Given the description of an element on the screen output the (x, y) to click on. 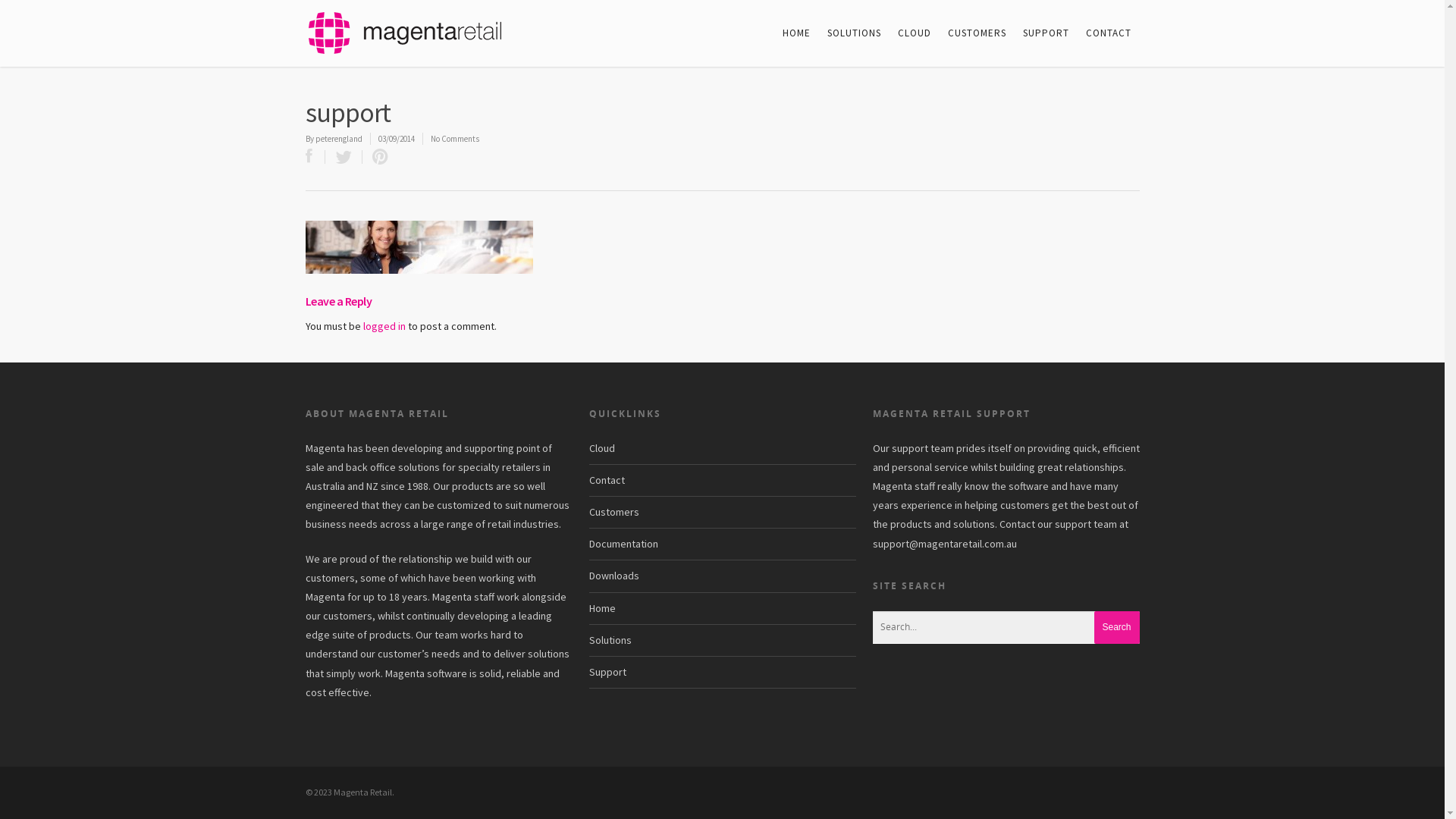
No Comments Element type: text (454, 138)
Documentation Element type: text (721, 544)
SUPPORT Element type: text (1045, 34)
CONTACT Element type: text (1108, 34)
Cloud Element type: text (721, 451)
CLOUD Element type: text (914, 34)
Search Element type: text (1116, 627)
Tweet this Element type: hover (342, 156)
Downloads Element type: text (721, 576)
support@magentaretail.com.au Element type: text (944, 543)
SOLUTIONS Element type: text (853, 34)
Share this Element type: hover (314, 156)
Pin this Element type: hover (376, 156)
HOME Element type: text (796, 34)
logged in Element type: text (383, 325)
Contact Element type: text (721, 480)
Customers Element type: text (721, 512)
CUSTOMERS Element type: text (976, 34)
peterengland Element type: text (338, 138)
Solutions Element type: text (721, 640)
Support Element type: text (721, 672)
Search for: Element type: hover (1005, 627)
Home Element type: text (721, 608)
